Given the description of an element on the screen output the (x, y) to click on. 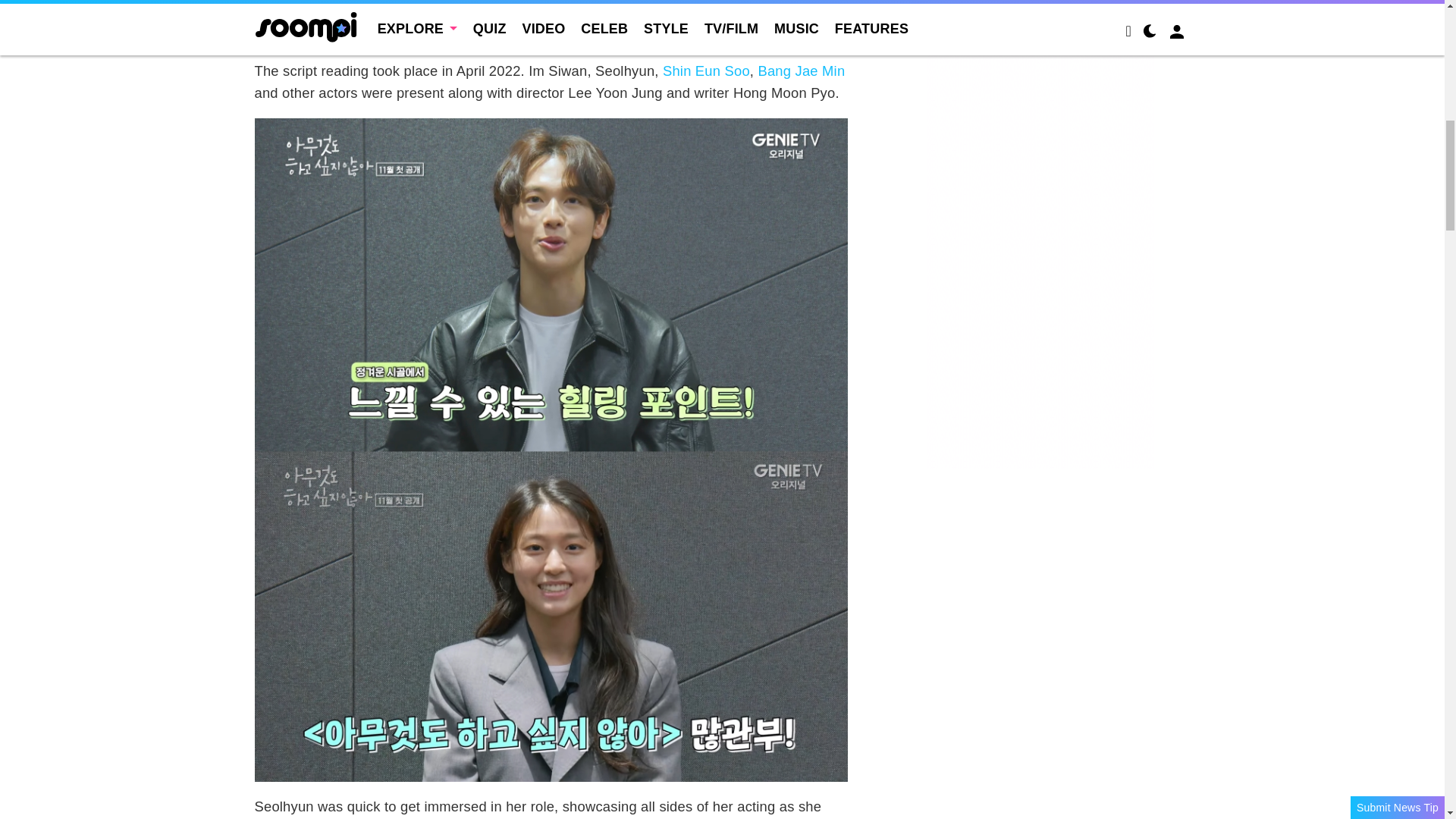
Shin Eun Soo (705, 70)
Bang Jae Min (800, 70)
